Given the description of an element on the screen output the (x, y) to click on. 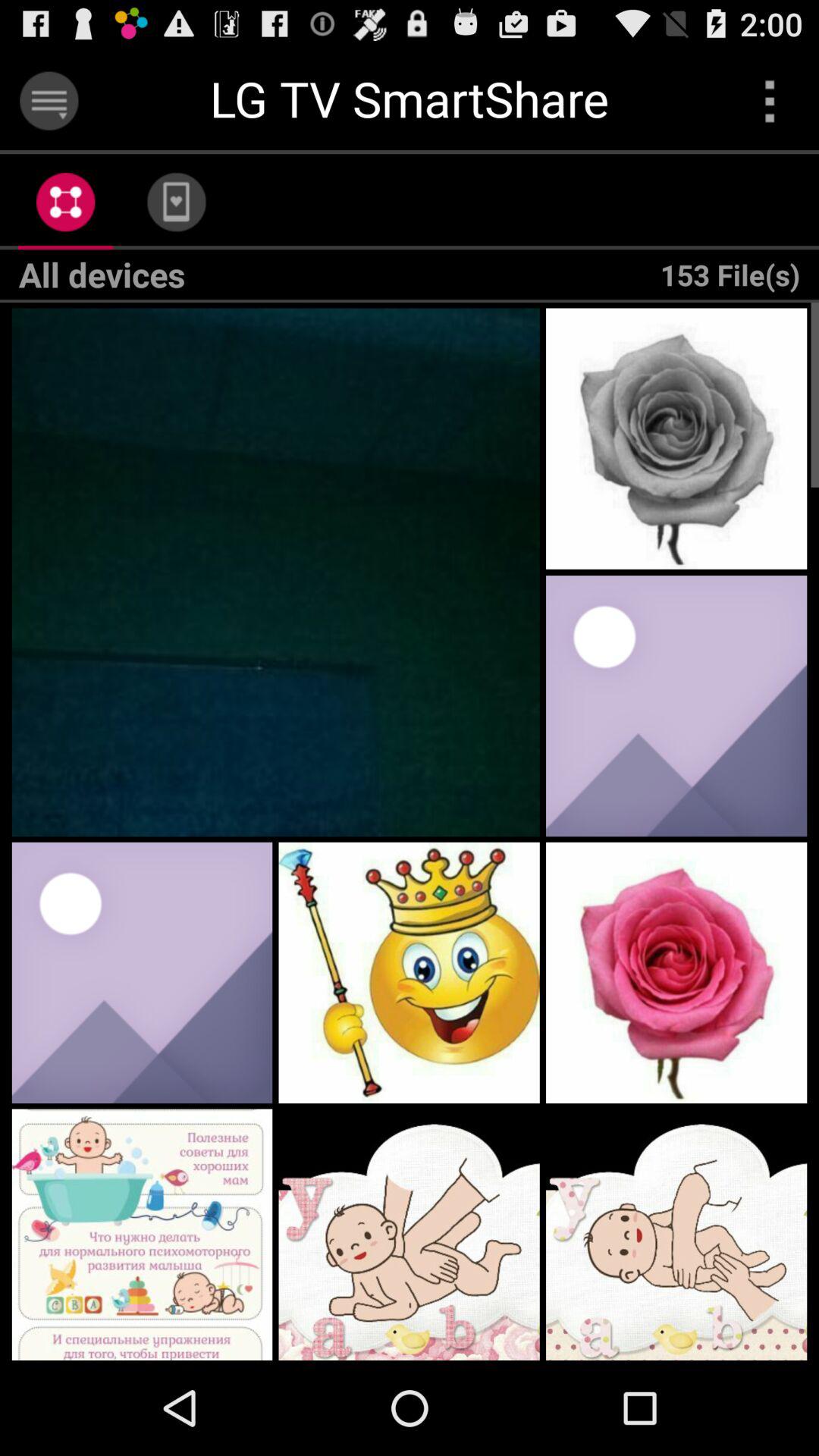
shows menu option (769, 100)
